Given the description of an element on the screen output the (x, y) to click on. 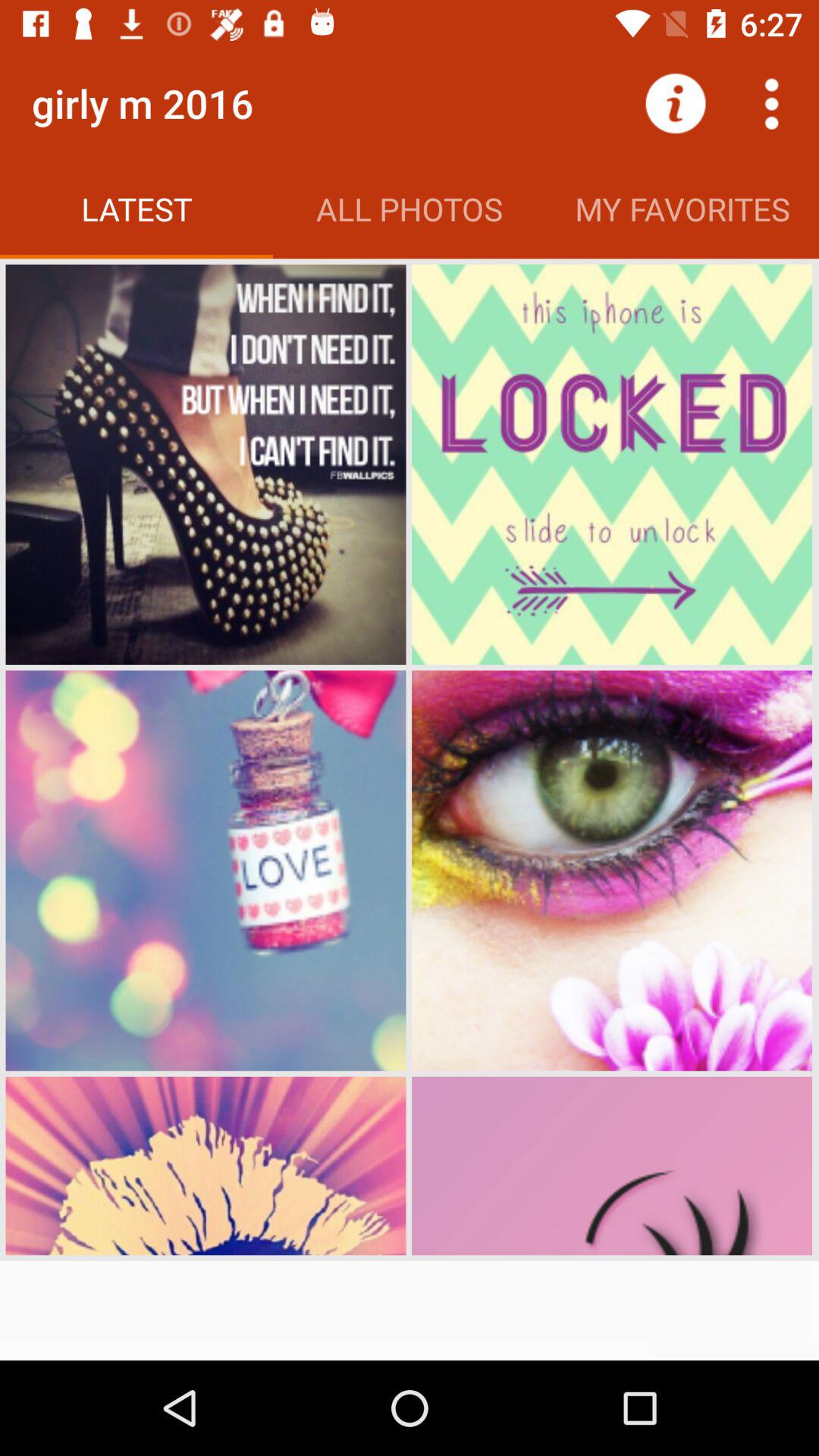
select the more option (771, 103)
